Given the description of an element on the screen output the (x, y) to click on. 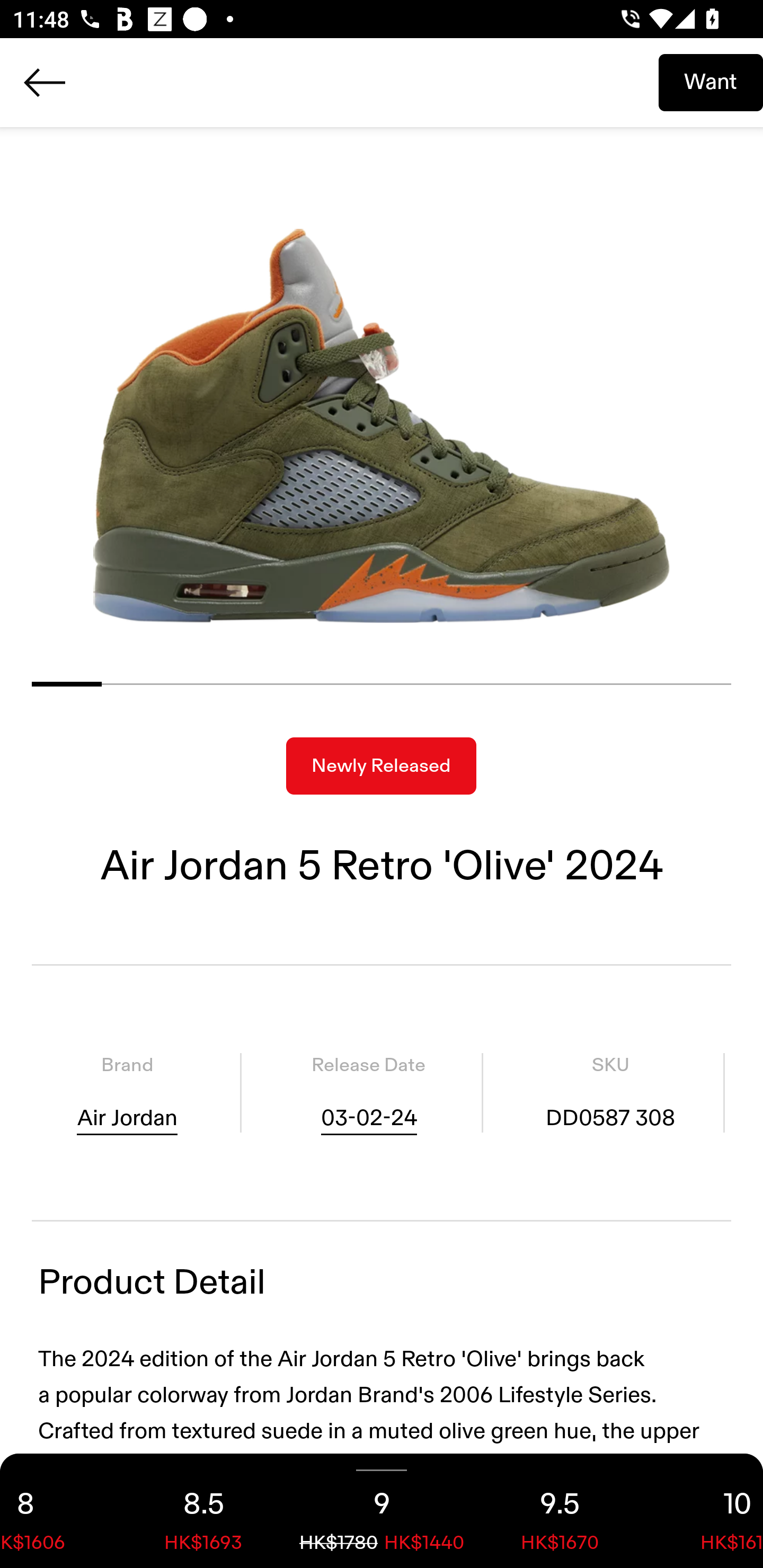
Want (710, 82)
Newly Released (381, 765)
Brand Air Jordan (126, 1092)
Release Date 03-02-24 (368, 1092)
SKU DD0587 308 (609, 1092)
8 HK$1606 (57, 1510)
8.5 HK$1693 (203, 1510)
9 HK$1780 HK$1440 (381, 1510)
9.5 HK$1670 (559, 1510)
10 HK$1614 (705, 1510)
